Given the description of an element on the screen output the (x, y) to click on. 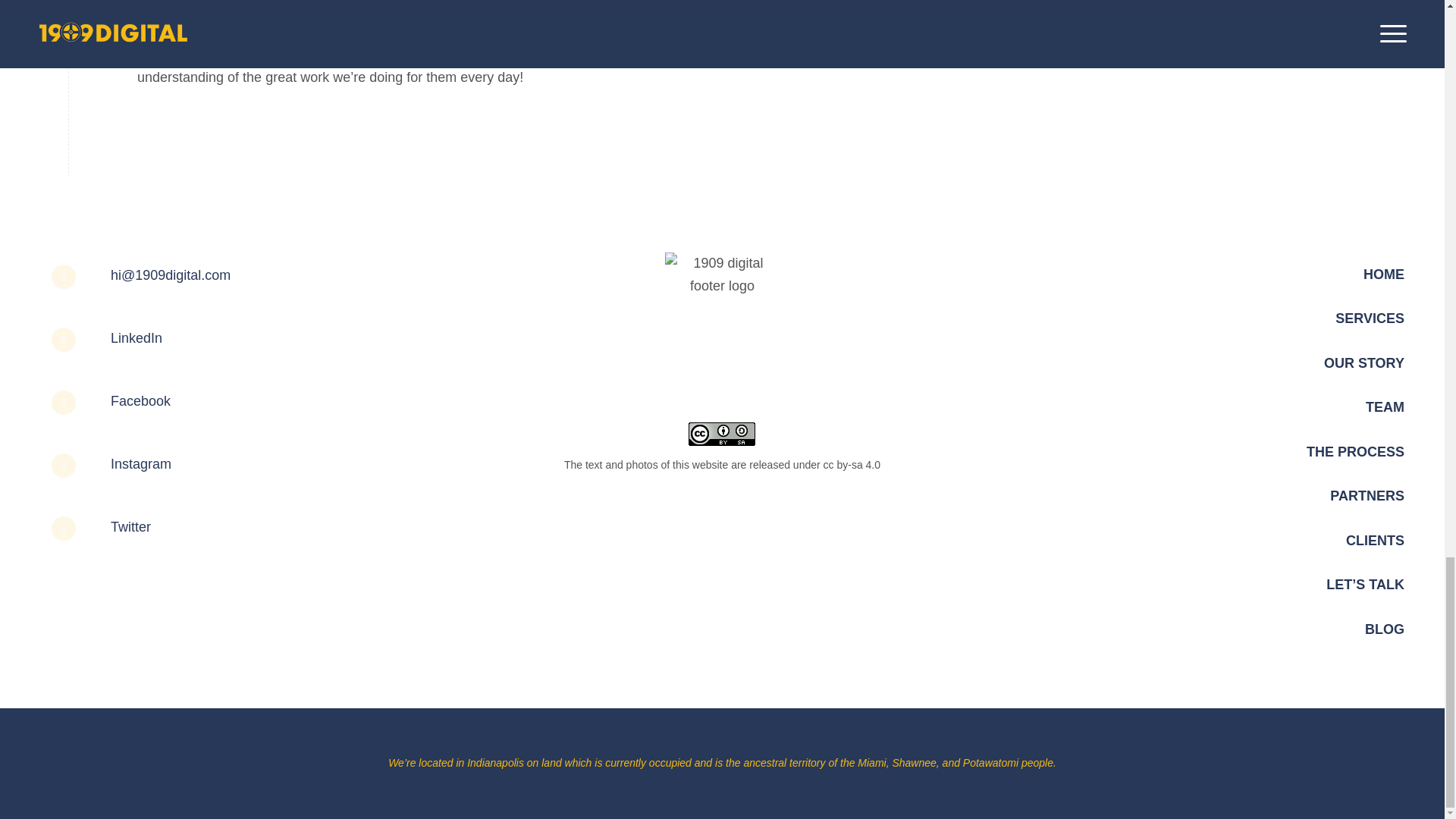
Facebook (140, 400)
LinkedIn (135, 337)
Instagram (140, 463)
Twitter (130, 526)
